Given the description of an element on the screen output the (x, y) to click on. 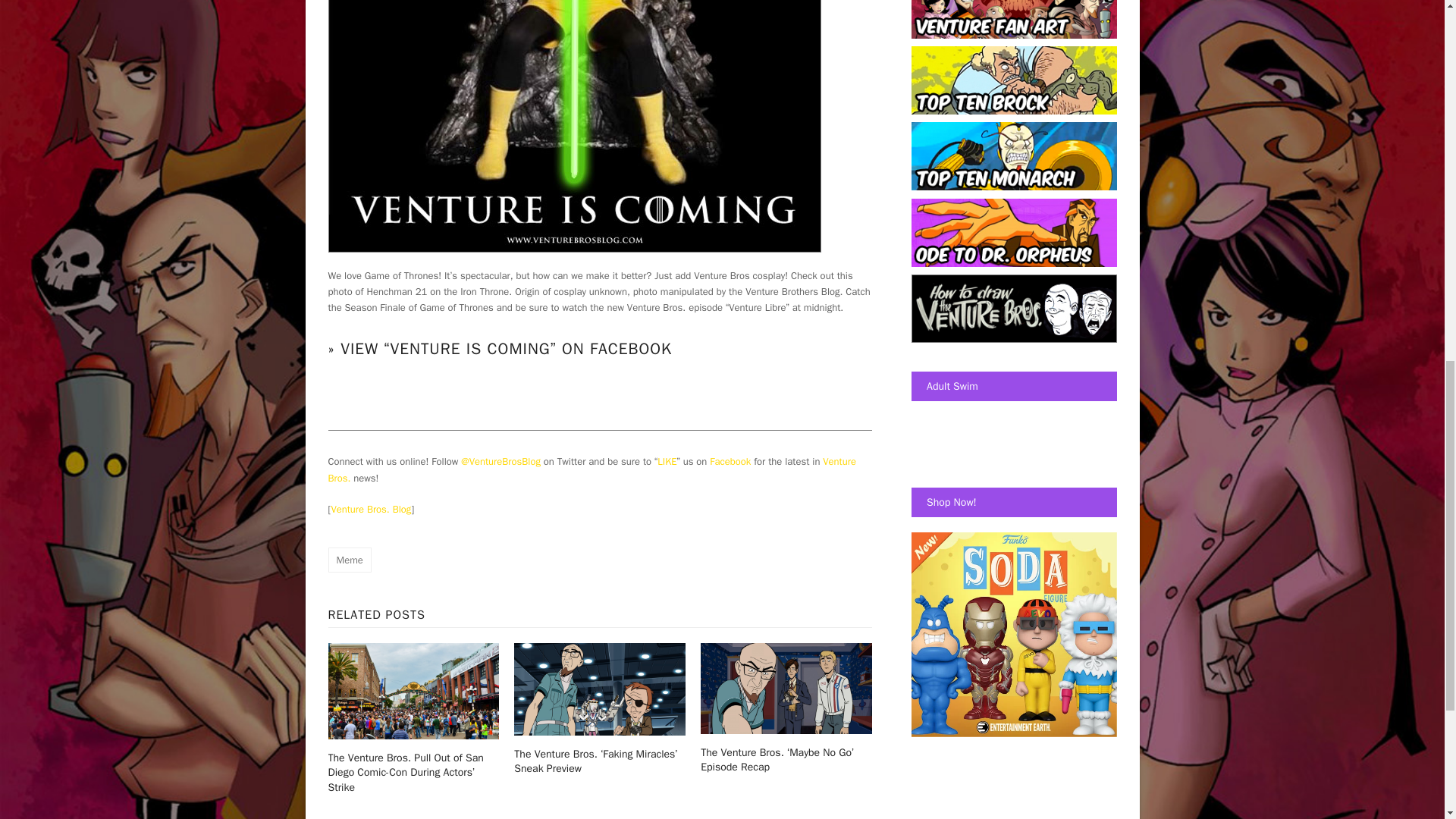
LIKE (667, 461)
Venture Is Coming Tonight at Midnight 1 (574, 126)
Facebook (730, 461)
Watch The Venture Bros. on AdultSwim.com (935, 423)
